Given the description of an element on the screen output the (x, y) to click on. 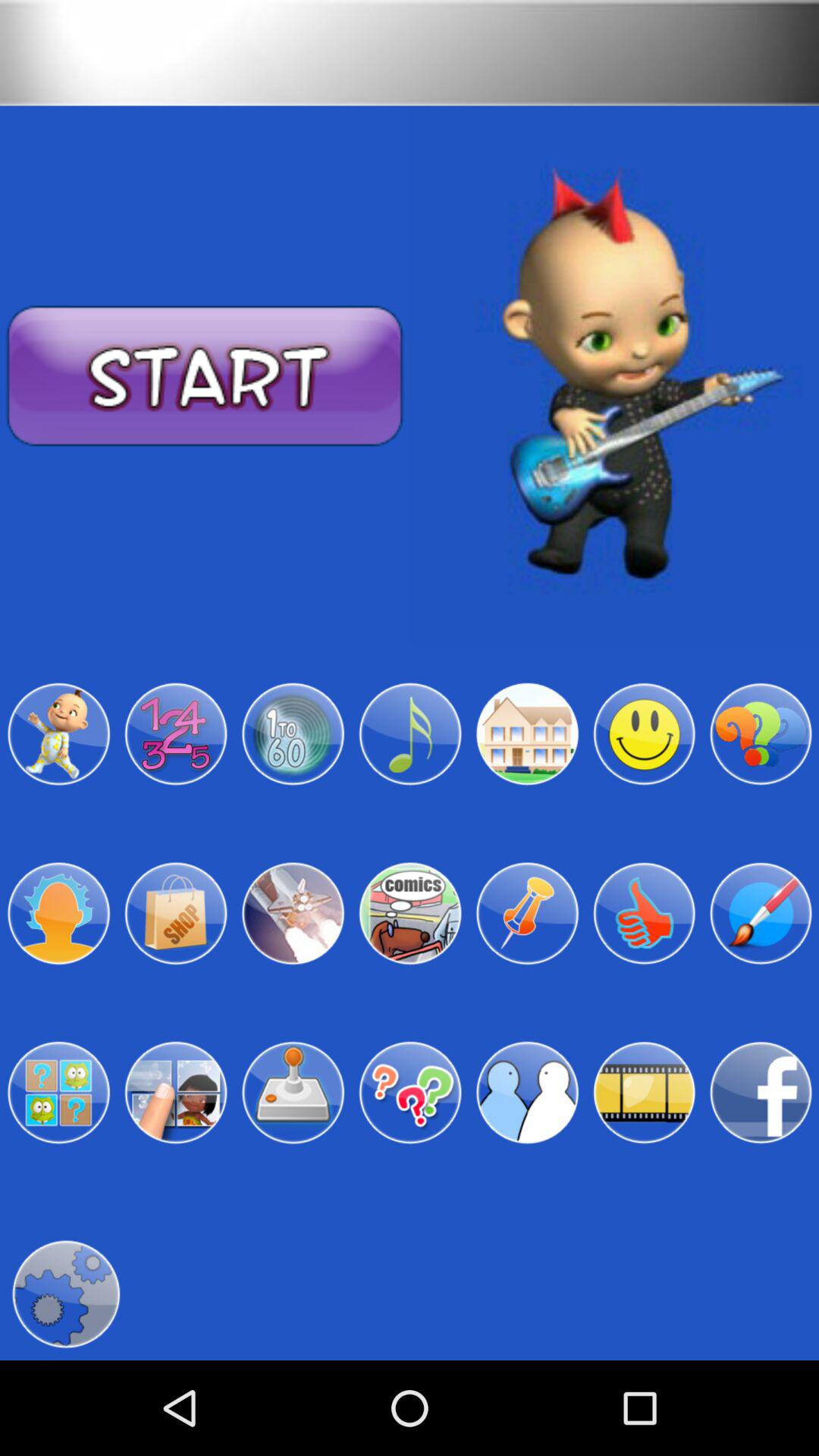
home (526, 734)
